Given the description of an element on the screen output the (x, y) to click on. 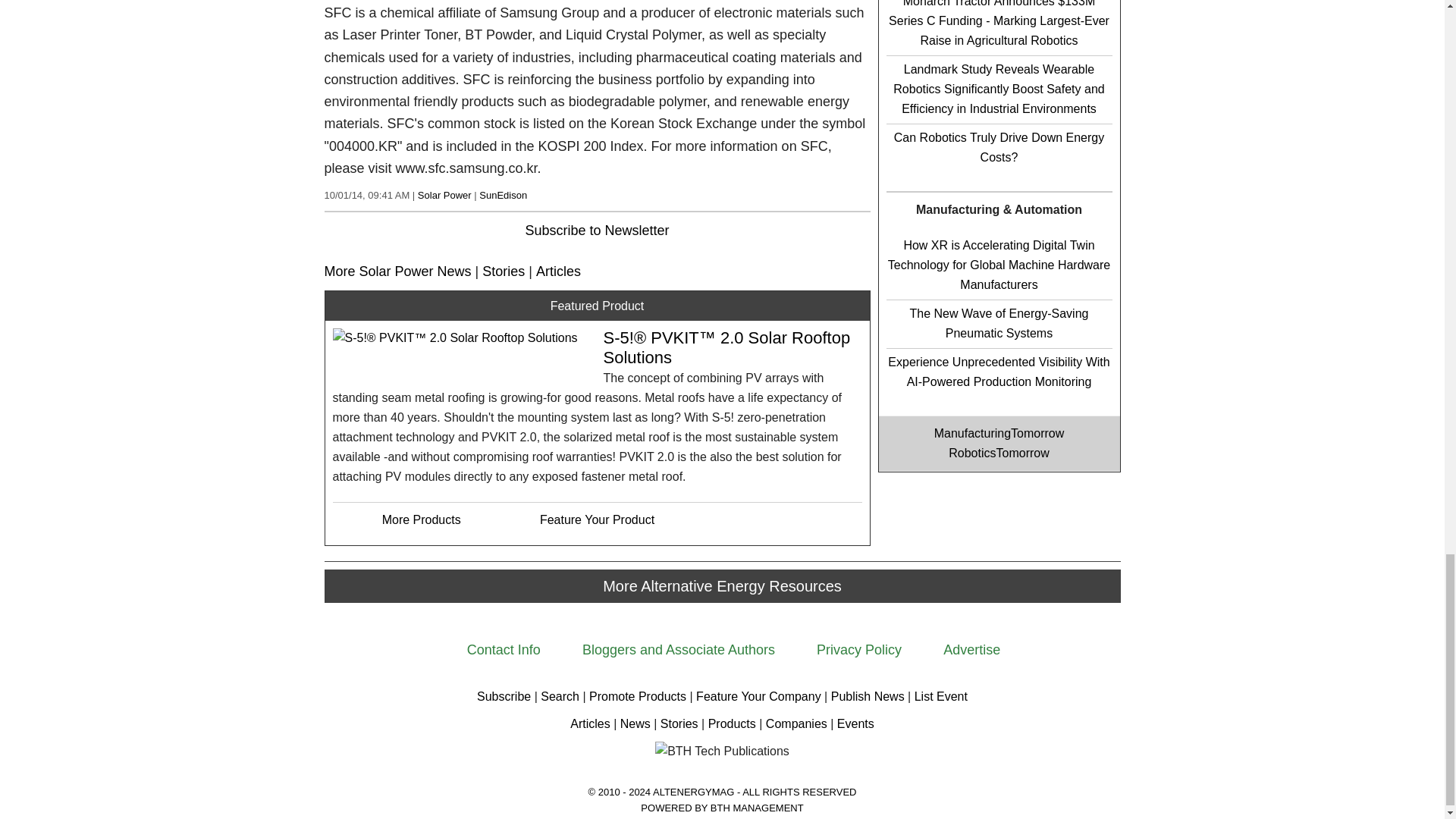
SunEdison (503, 194)
Stories (502, 270)
More Solar Power News (397, 270)
Subscribe to Newsletter (596, 230)
Articles (557, 270)
Solar Power (444, 194)
